Given the description of an element on the screen output the (x, y) to click on. 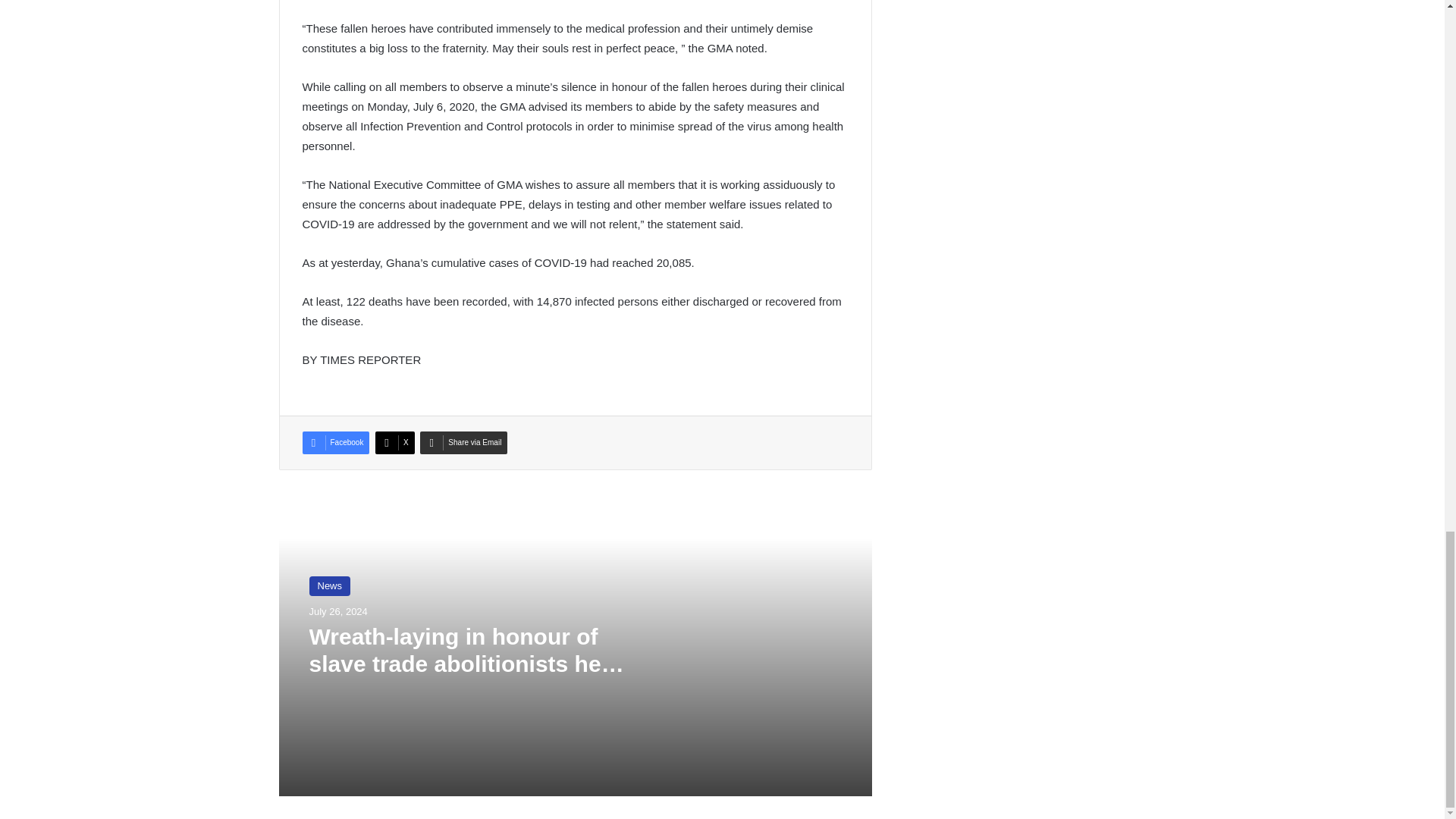
Share via Email (463, 442)
Facebook (335, 442)
Facebook (335, 442)
News (329, 586)
Share via Email (463, 442)
X (394, 442)
X (394, 442)
